Given the description of an element on the screen output the (x, y) to click on. 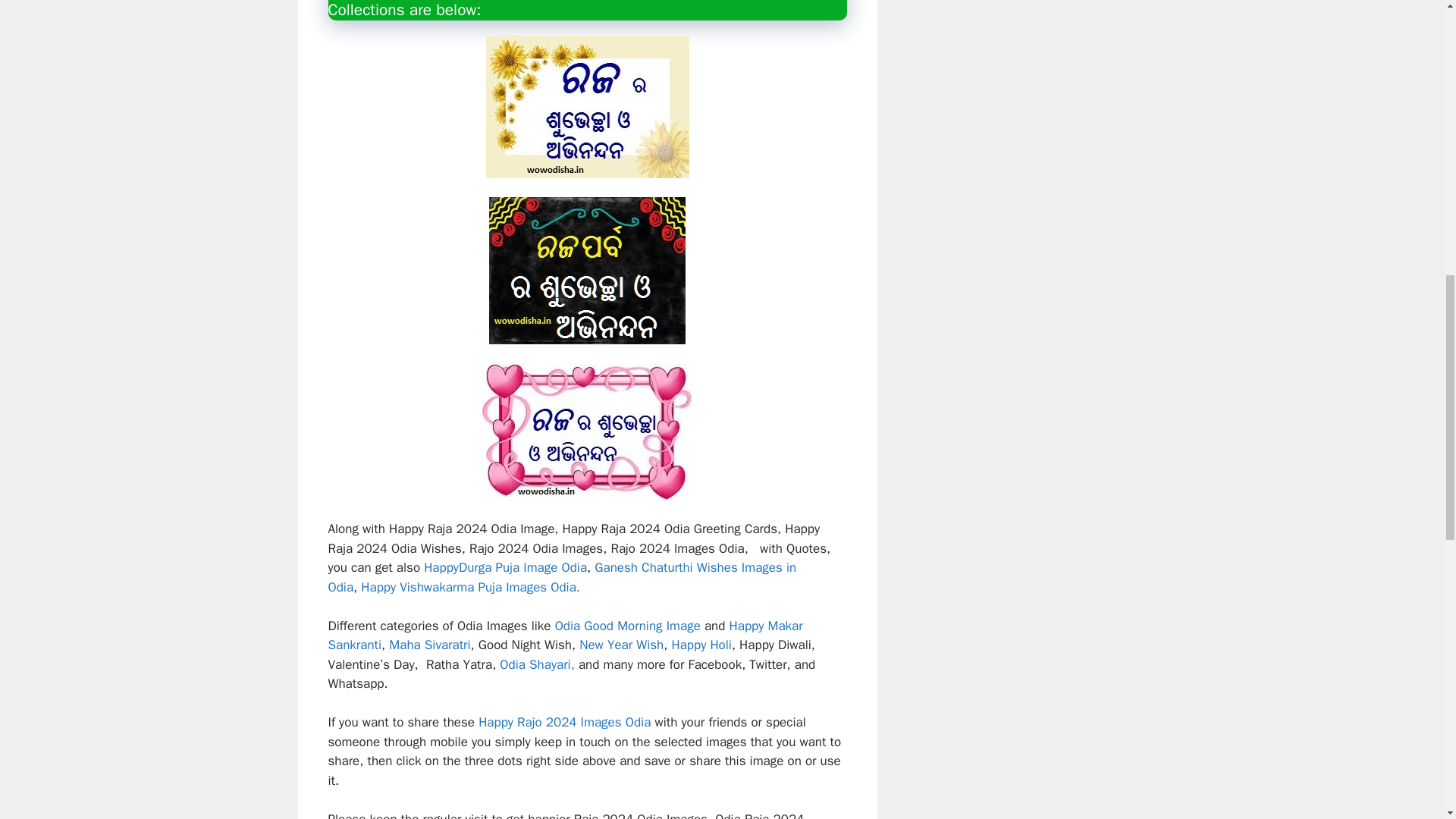
Maha Sivaratri (429, 644)
Scroll back to top (1406, 720)
New Year Wish (621, 644)
Happy Rajo 2024 Images Odia (566, 722)
Odia Shayari,  (537, 664)
Happy Vishwakarma Puja Images Odia. (470, 587)
Odia Good Morning Image (627, 625)
HappyDurga Puja Image Odia (503, 567)
Happy Makar Sankranti (564, 635)
Ganesh Chaturthi Wishes Images in Odia (561, 577)
Happy Holi (700, 644)
